Given the description of an element on the screen output the (x, y) to click on. 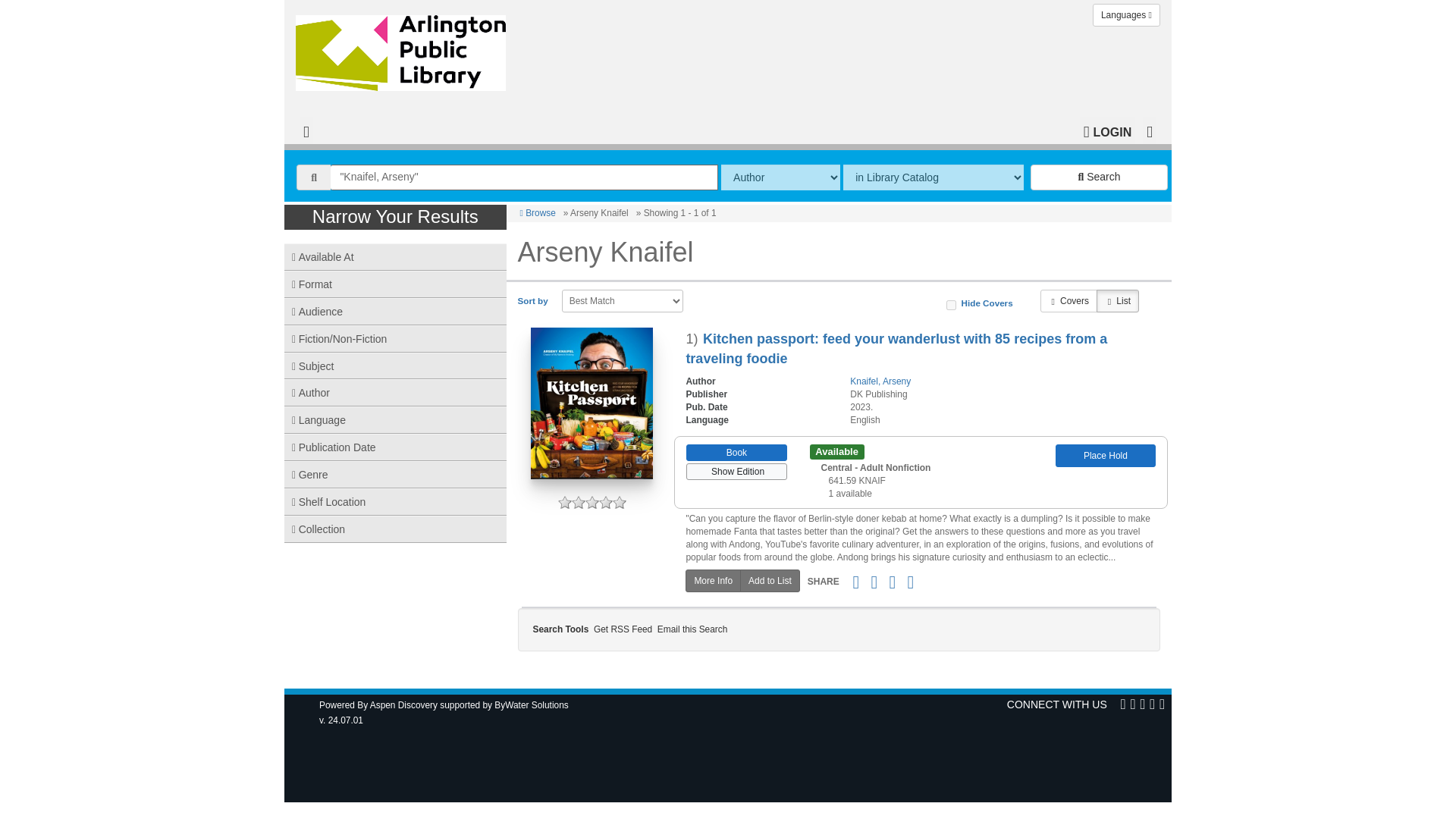
Login (1107, 130)
The method of searching. (780, 177)
Languages  (1126, 15)
on (951, 305)
Knaifel, Arseny (880, 380)
"Knaifel, Arseny" (523, 177)
LOGIN (1107, 130)
 Search (1098, 177)
Book (735, 452)
Browse (537, 213)
Library Home Page (404, 48)
